Given the description of an element on the screen output the (x, y) to click on. 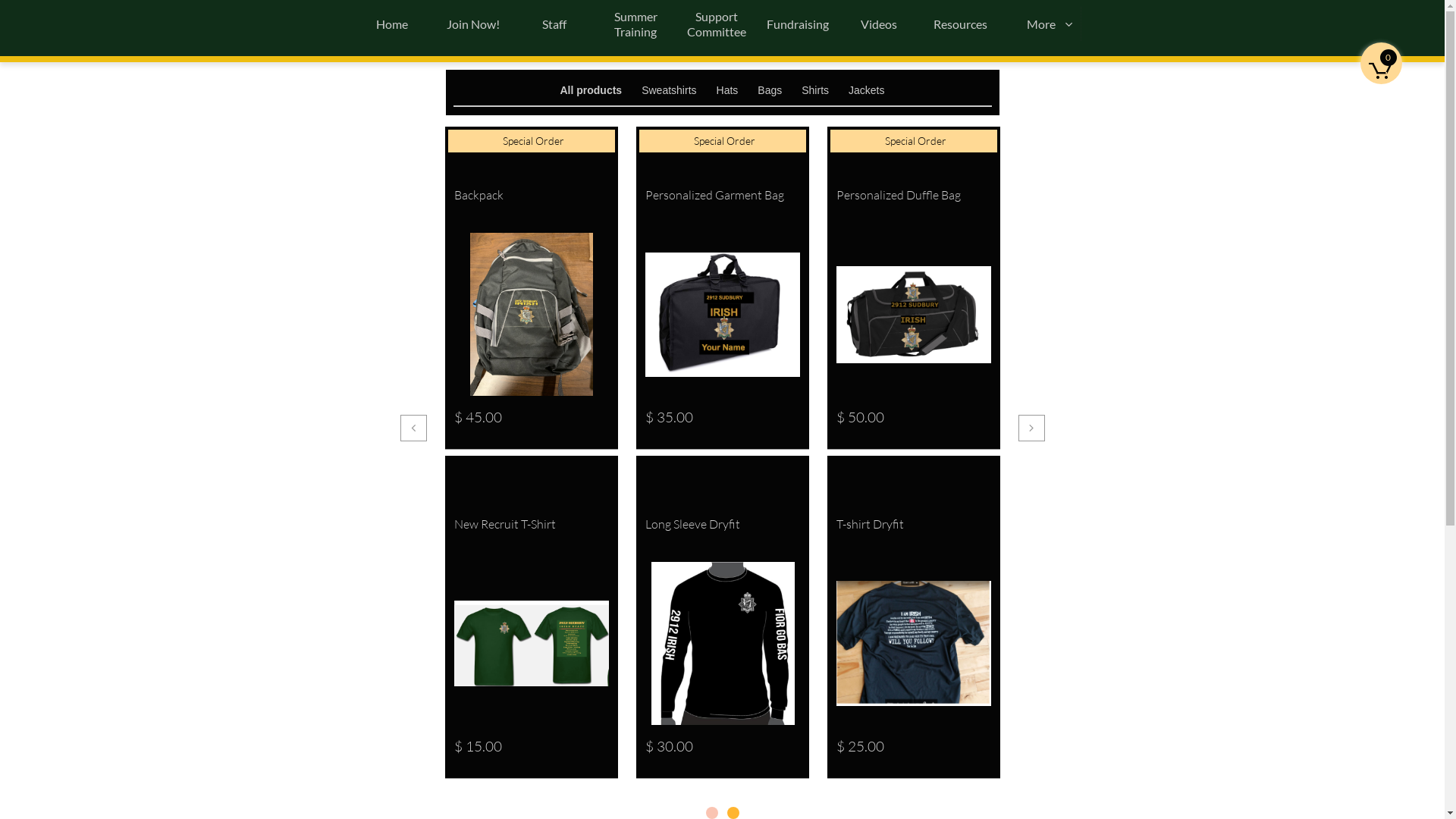
Join Now! Element type: text (472, 23)
$ 50.00
Personalized Duffle Bag
Special Order Element type: text (912, 287)
$ 25.00
T-shirt Dryfit  Element type: text (912, 616)
$ 35.00
Personalized Garment Bag
Special Order Element type: text (721, 287)
Fundraising Element type: text (797, 23)
Home Element type: text (392, 23)
Staff Element type: text (554, 23)
$ 45.00
Backpack
Special Order Element type: text (530, 287)
Resources Element type: text (959, 23)
Support Committee Element type: text (716, 23)
$ 15.00
New Recruit T-Shirt Element type: text (530, 616)
Summer Training Element type: text (635, 23)
$ 30.00
Long Sleeve Dryfit Element type: text (721, 616)
Videos Element type: text (879, 23)
